Given the description of an element on the screen output the (x, y) to click on. 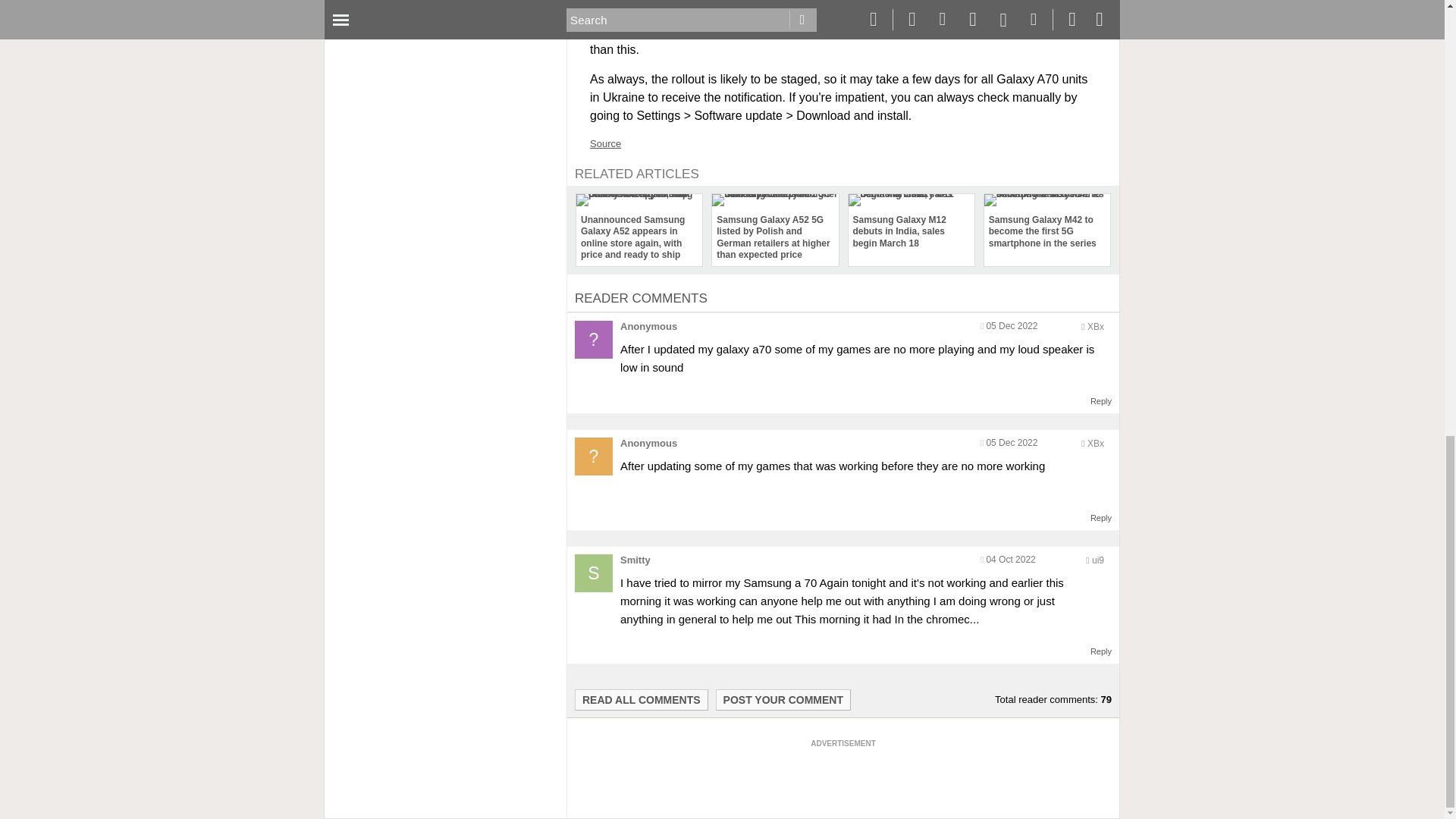
Encoded anonymized location (1097, 560)
Reply to this post (1101, 651)
Source (605, 143)
Encoded anonymized location (1095, 326)
Samsung Galaxy M12 debuts in India, sales begin March 18 (910, 223)
Reply to this post (1101, 517)
Reply to this post (1101, 400)
Encoded anonymized location (1095, 443)
